Given the description of an element on the screen output the (x, y) to click on. 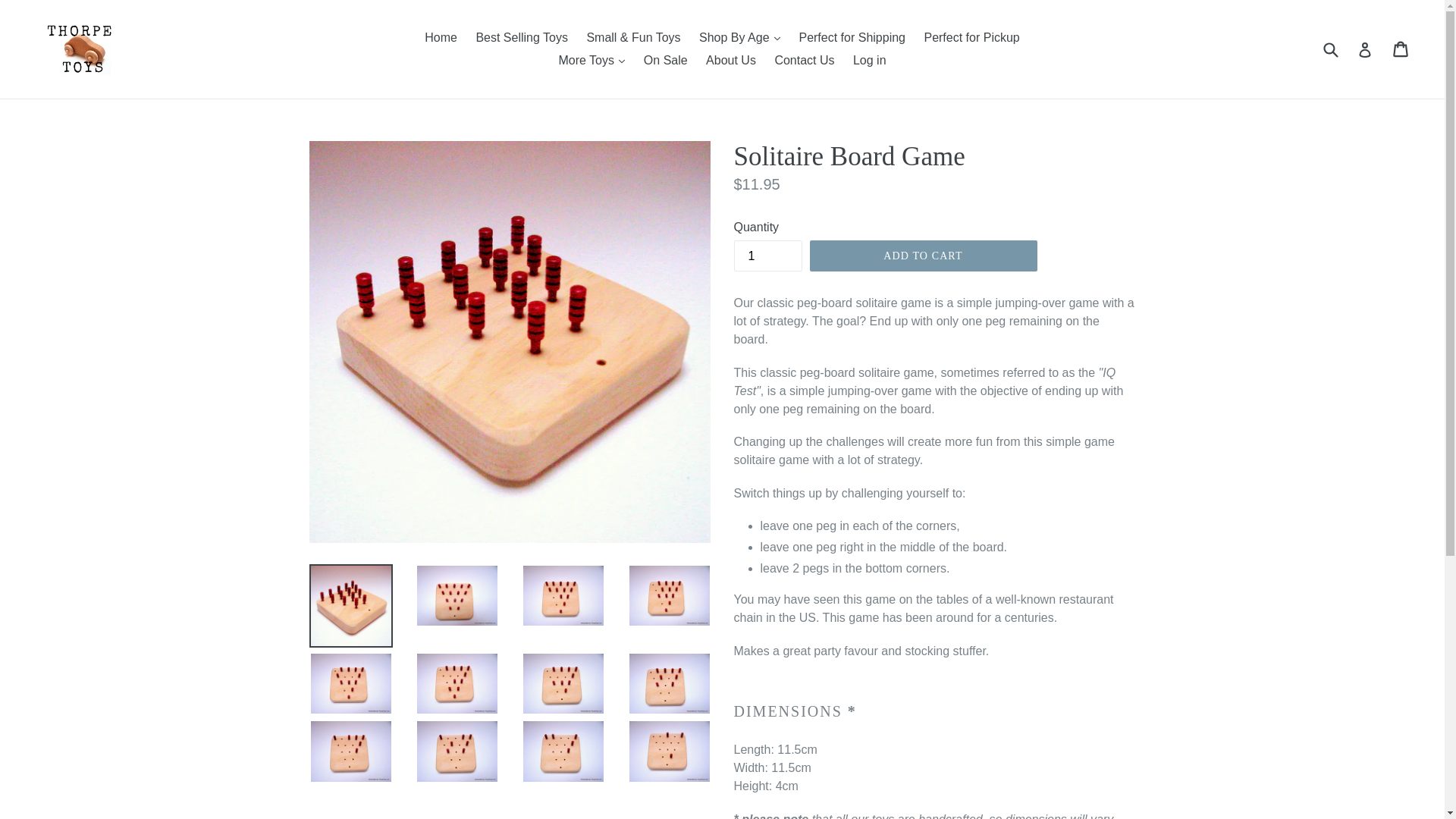
1 (767, 255)
